Given the description of an element on the screen output the (x, y) to click on. 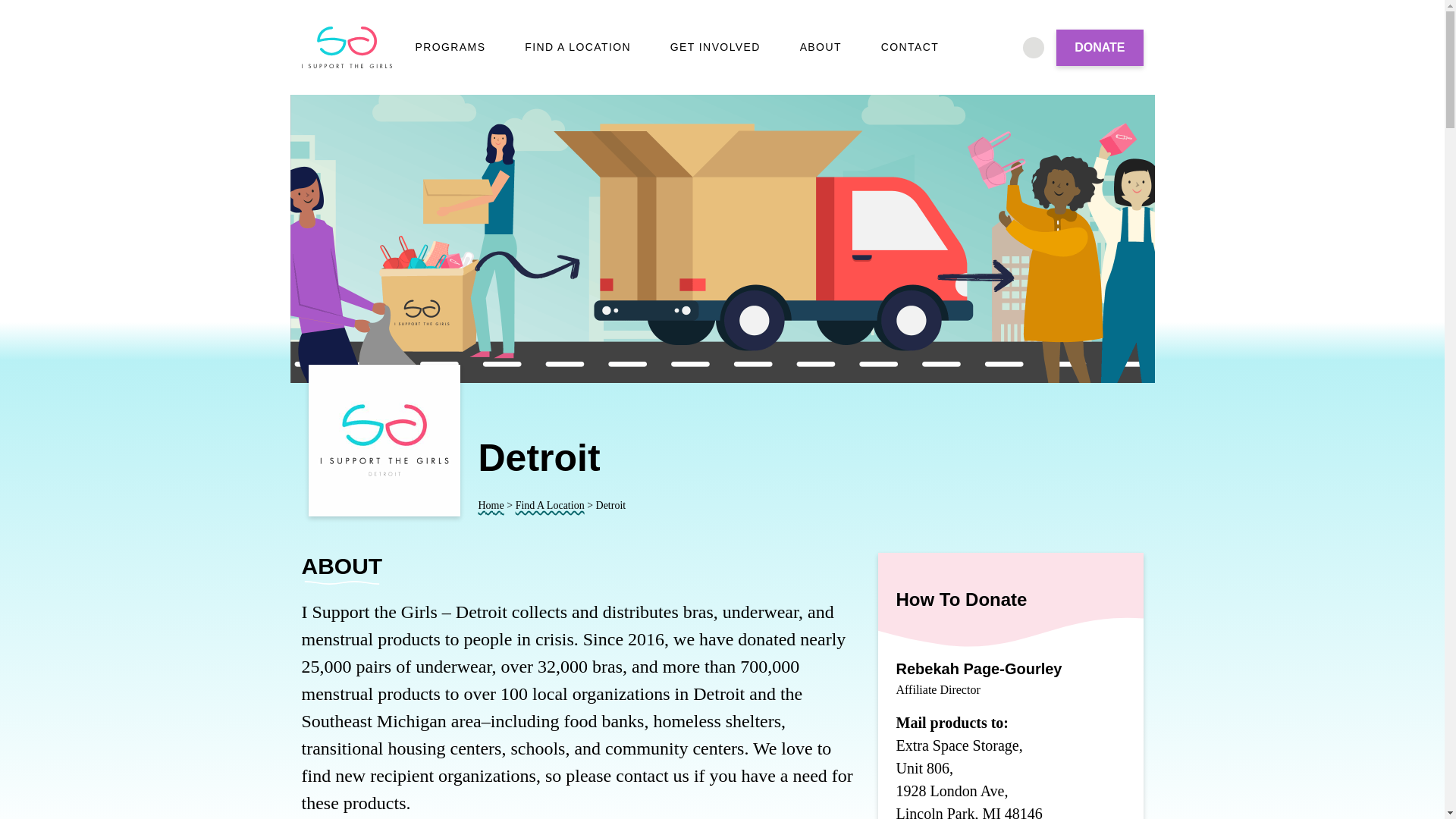
PROGRAMS (450, 47)
CONTACT (909, 47)
ABOUT (820, 47)
GET INVOLVED (714, 47)
Find A Location (550, 505)
FIND A LOCATION (577, 47)
DONATE (1099, 47)
Home (490, 505)
